Given the description of an element on the screen output the (x, y) to click on. 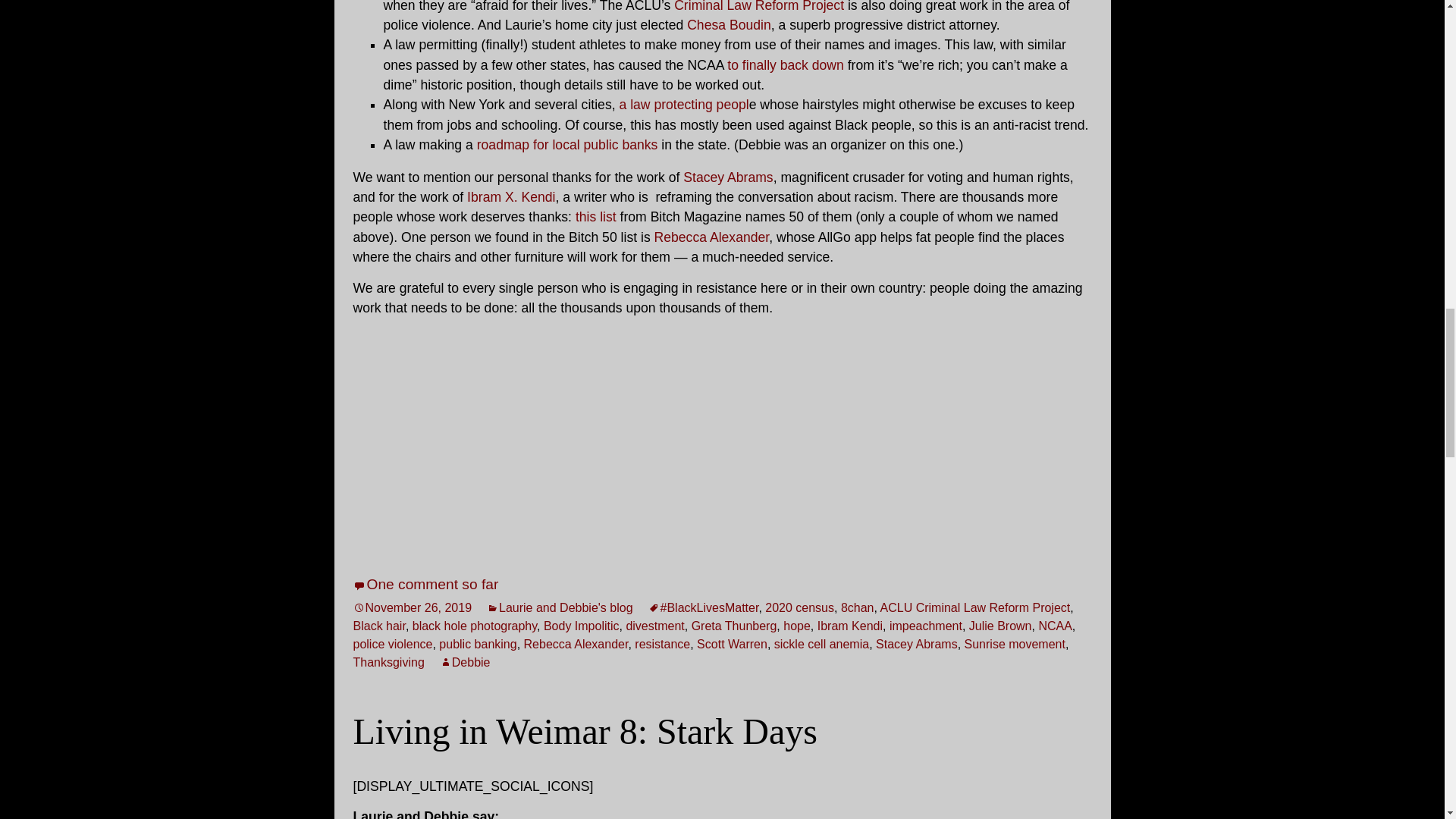
View all posts by Debbie (464, 662)
Permalink to Thanksgiving 2019: Still Finding Hope (412, 607)
